Given the description of an element on the screen output the (x, y) to click on. 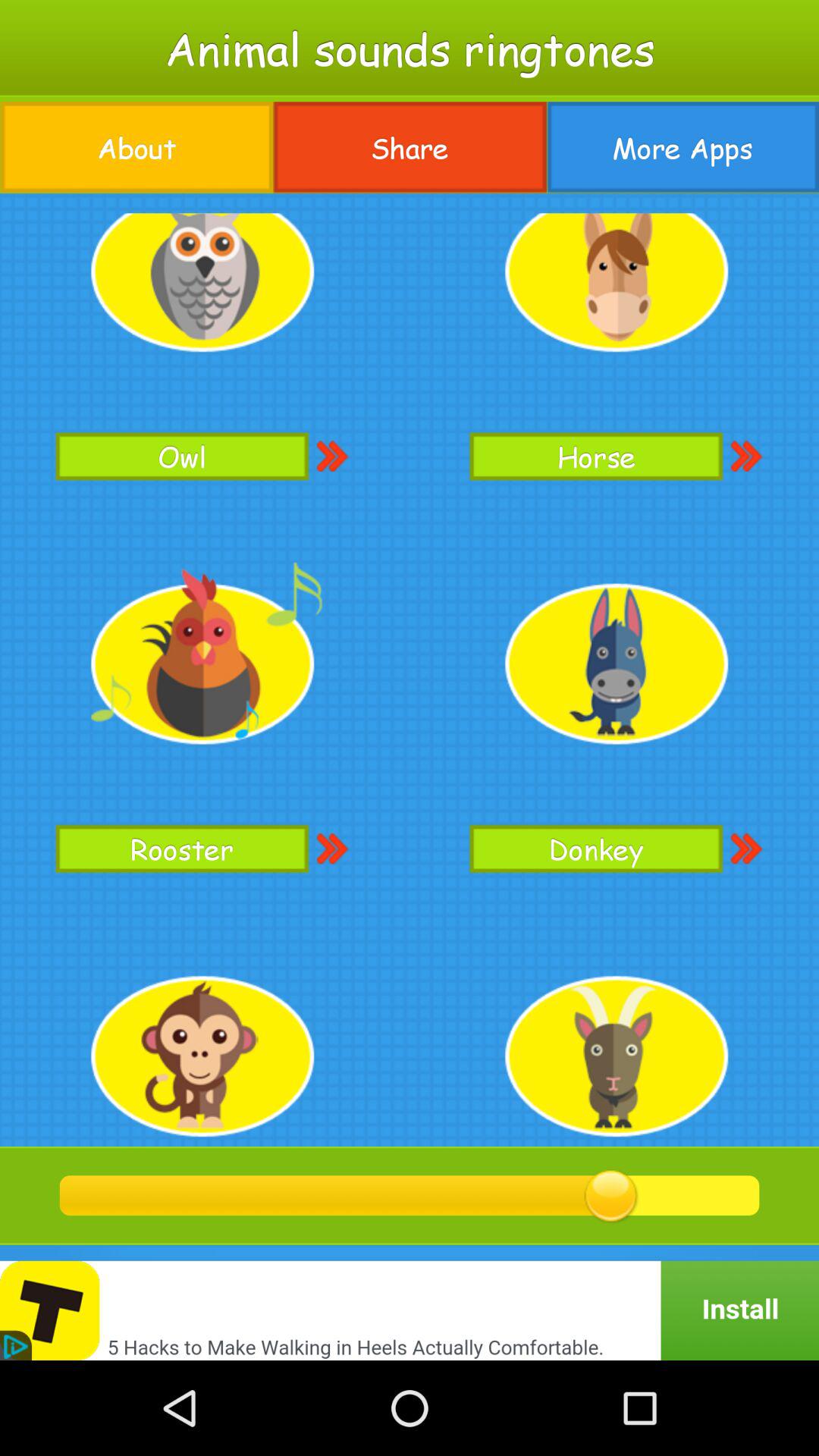
click the button to the left of share icon (136, 147)
